Given the description of an element on the screen output the (x, y) to click on. 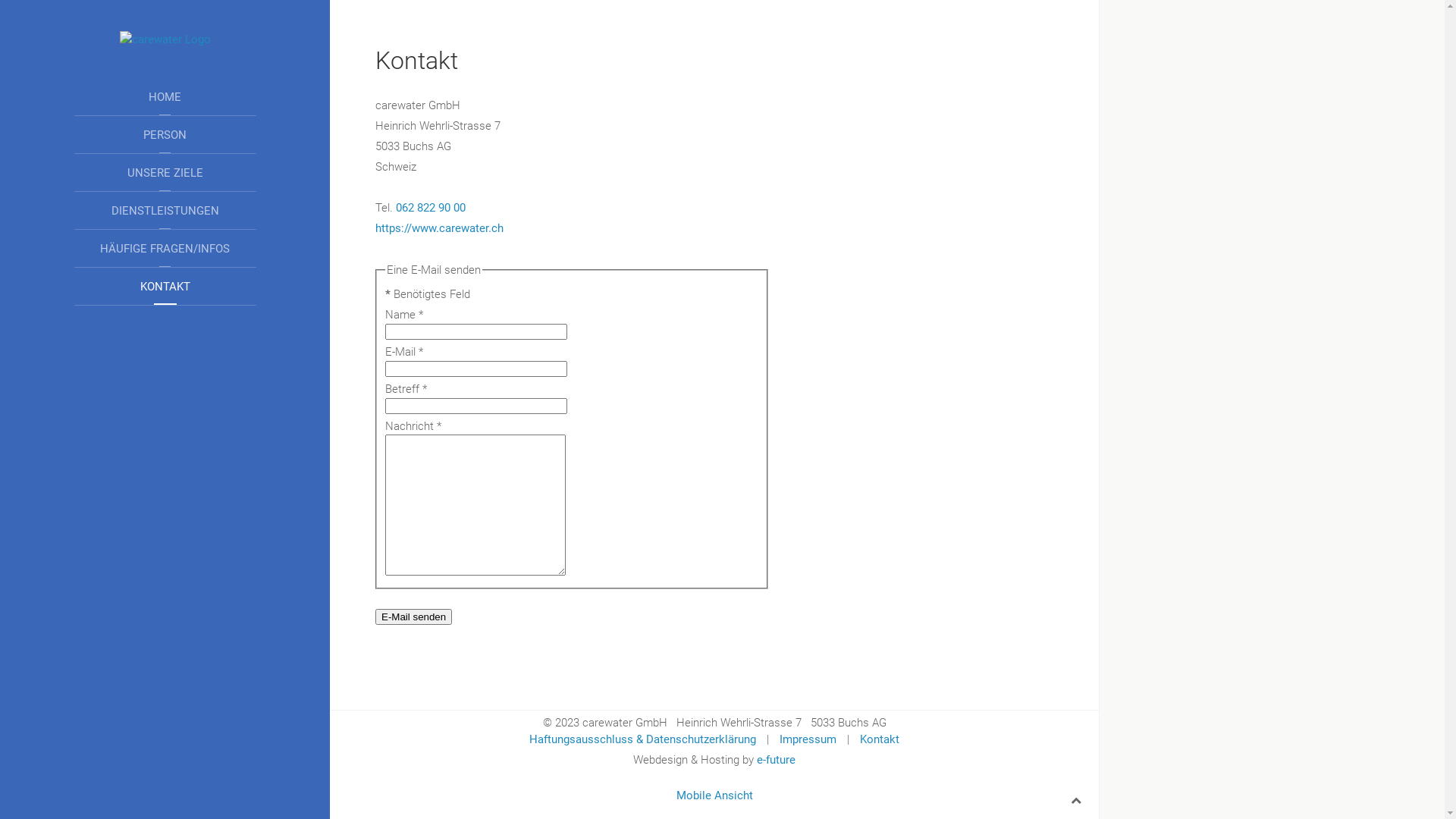
https://www.carewater.ch Element type: text (439, 228)
e-future Element type: text (775, 759)
062 822 90 00 Element type: text (430, 207)
Mobile Ansicht Element type: text (714, 795)
E-Mail senden Element type: text (413, 616)
Kontakt Element type: text (879, 739)
UNSERE ZIELE Element type: text (165, 172)
KONTAKT Element type: text (165, 286)
PERSON Element type: text (165, 134)
DIENSTLEISTUNGEN Element type: text (165, 210)
Impressum Element type: text (807, 739)
HOME Element type: text (165, 97)
